Given the description of an element on the screen output the (x, y) to click on. 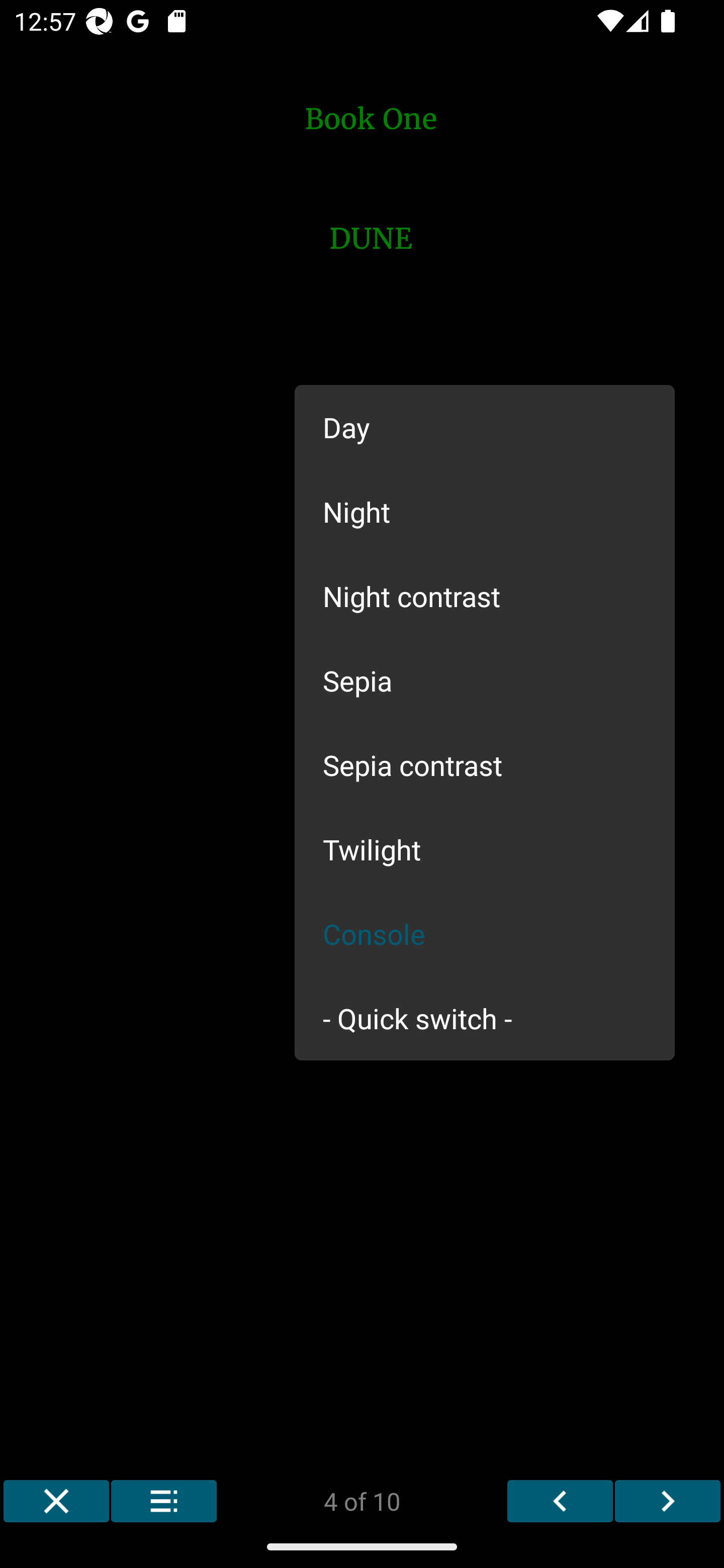
Day (484, 426)
Night (484, 510)
Night contrast (484, 595)
Sepia (484, 680)
Sepia contrast (484, 764)
Twilight (484, 849)
Console (484, 933)
- Quick switch - (484, 1017)
